Given the description of an element on the screen output the (x, y) to click on. 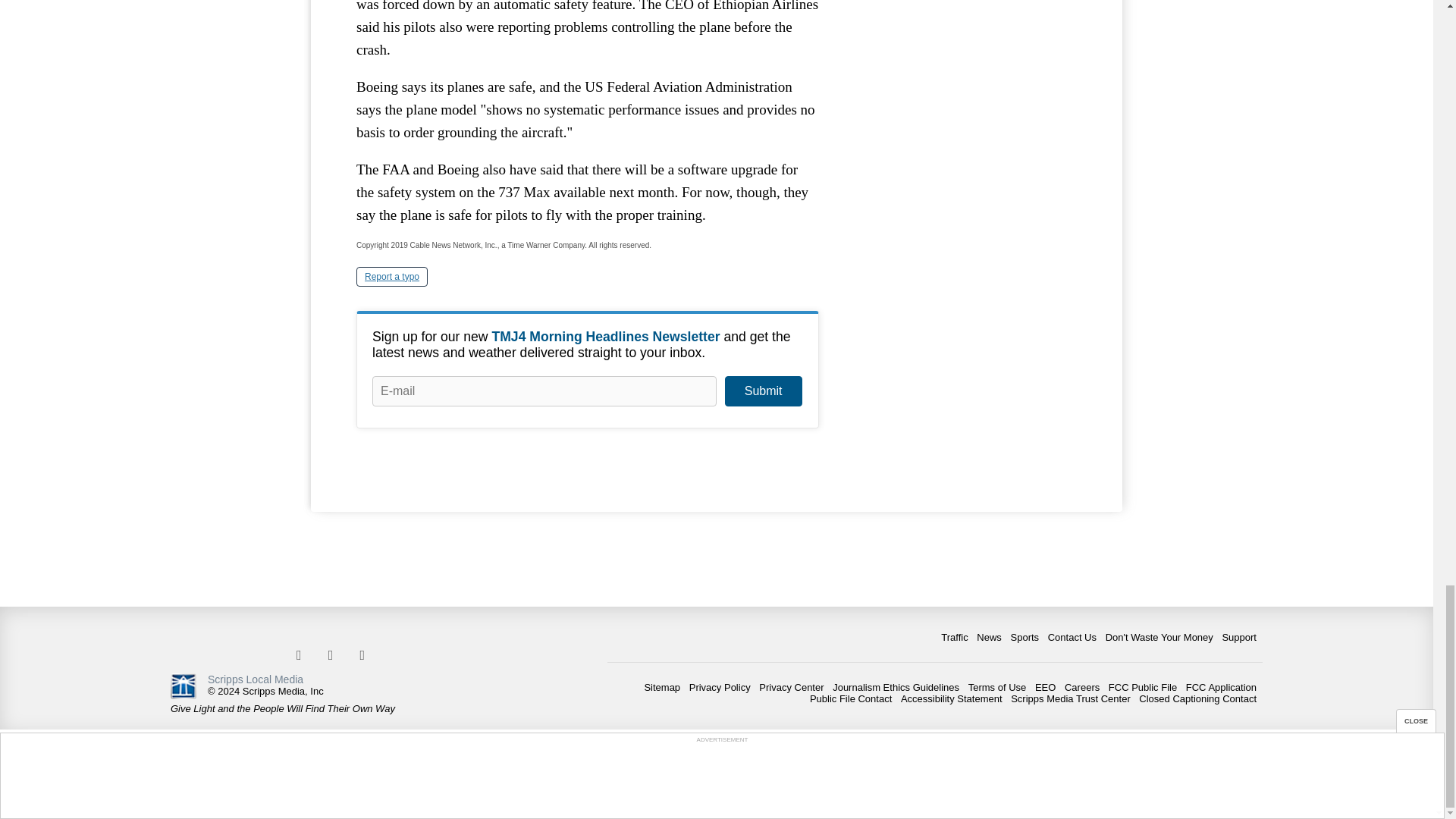
Submit (763, 390)
